Given the description of an element on the screen output the (x, y) to click on. 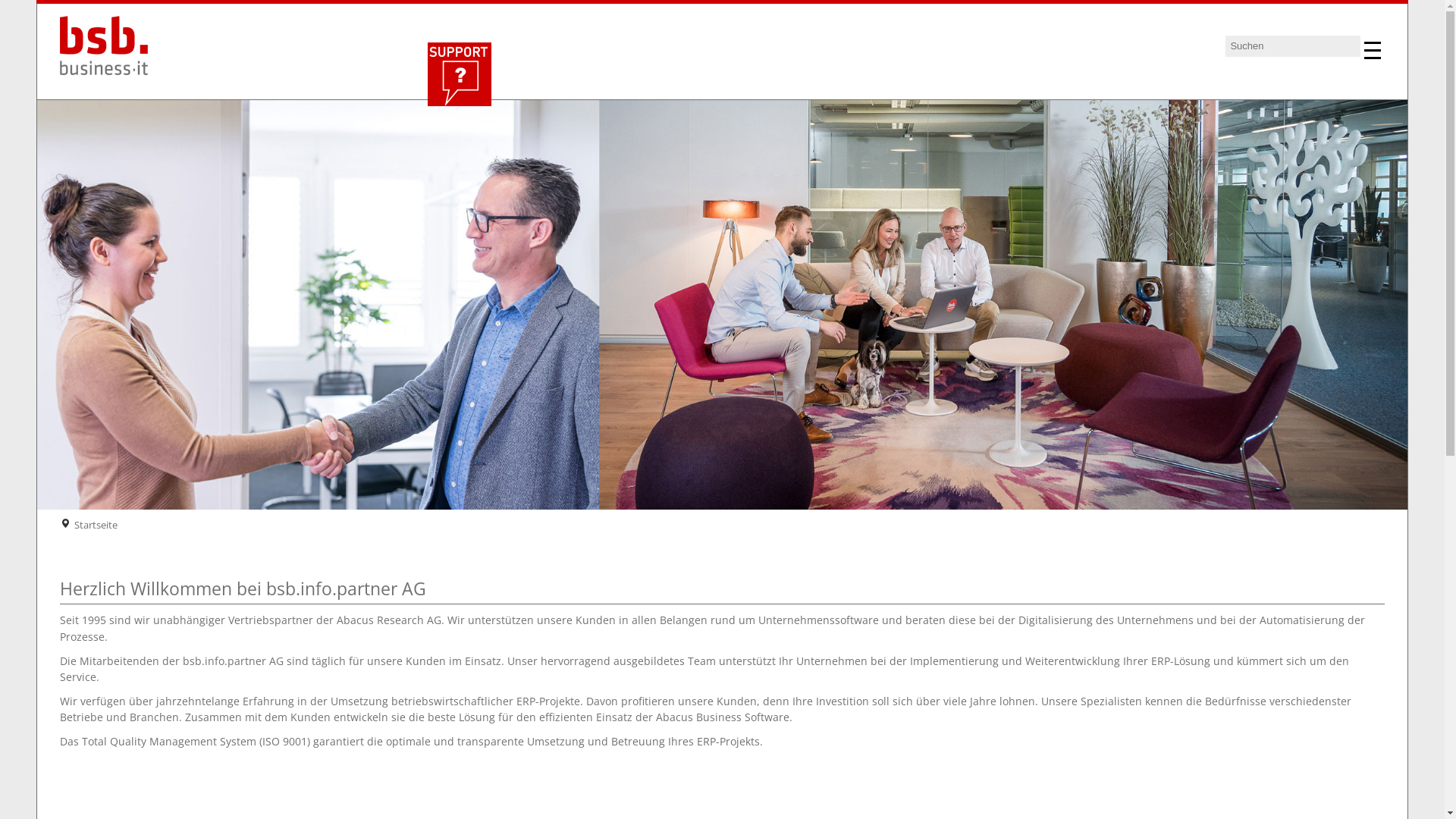
bsb.info.partner AG Element type: hover (110, 48)
Aktuelle Seite:  Element type: hover (64, 523)
